Given the description of an element on the screen output the (x, y) to click on. 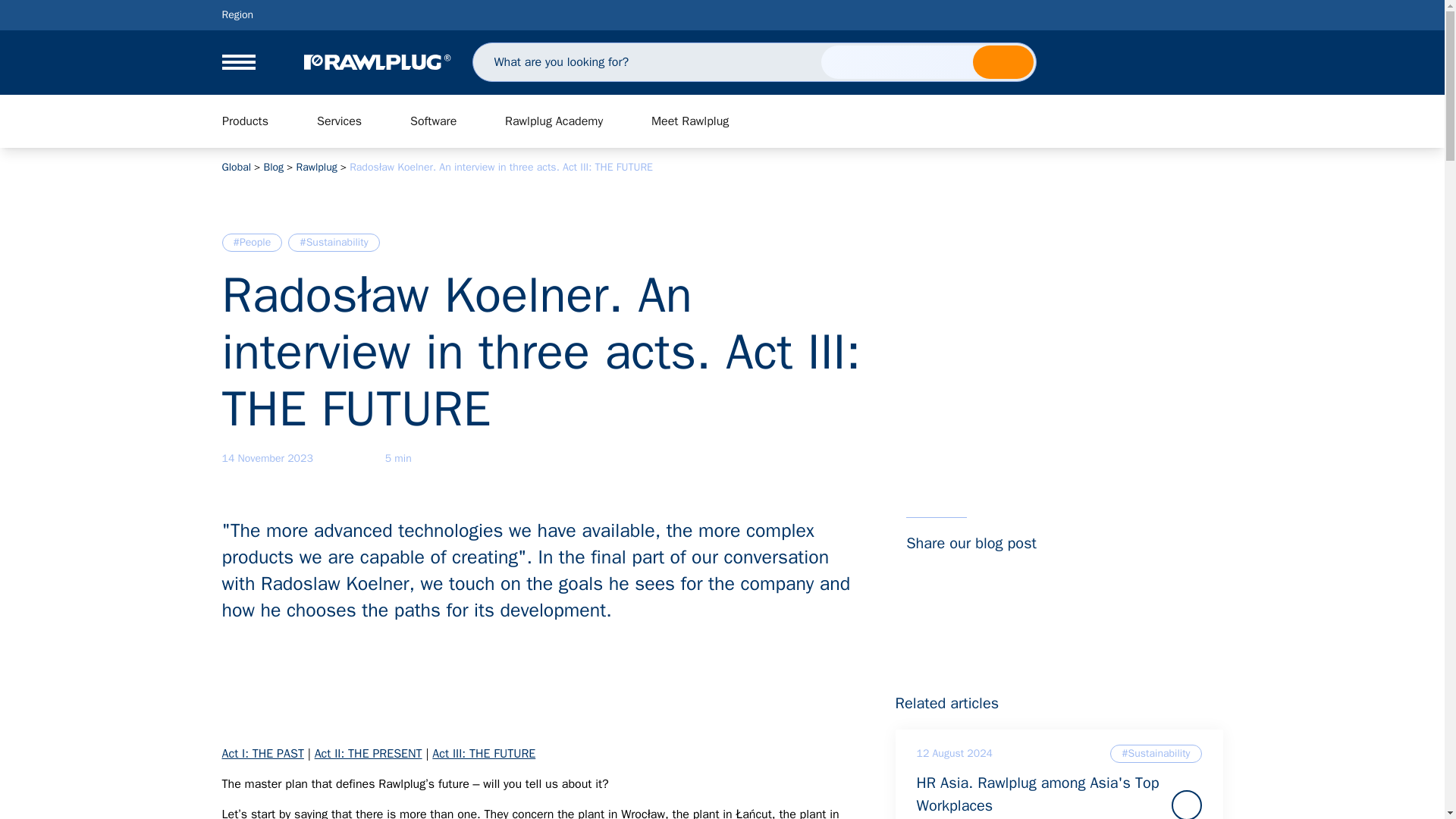
Rawlplug (315, 166)
Meet Rawlplug (689, 121)
Act I: THE PAST (261, 753)
facebook (951, 571)
Global (235, 166)
linkedin (920, 571)
Blog (273, 166)
14-11-2023 (267, 458)
Rawlplug (375, 61)
twitter (981, 571)
